Given the description of an element on the screen output the (x, y) to click on. 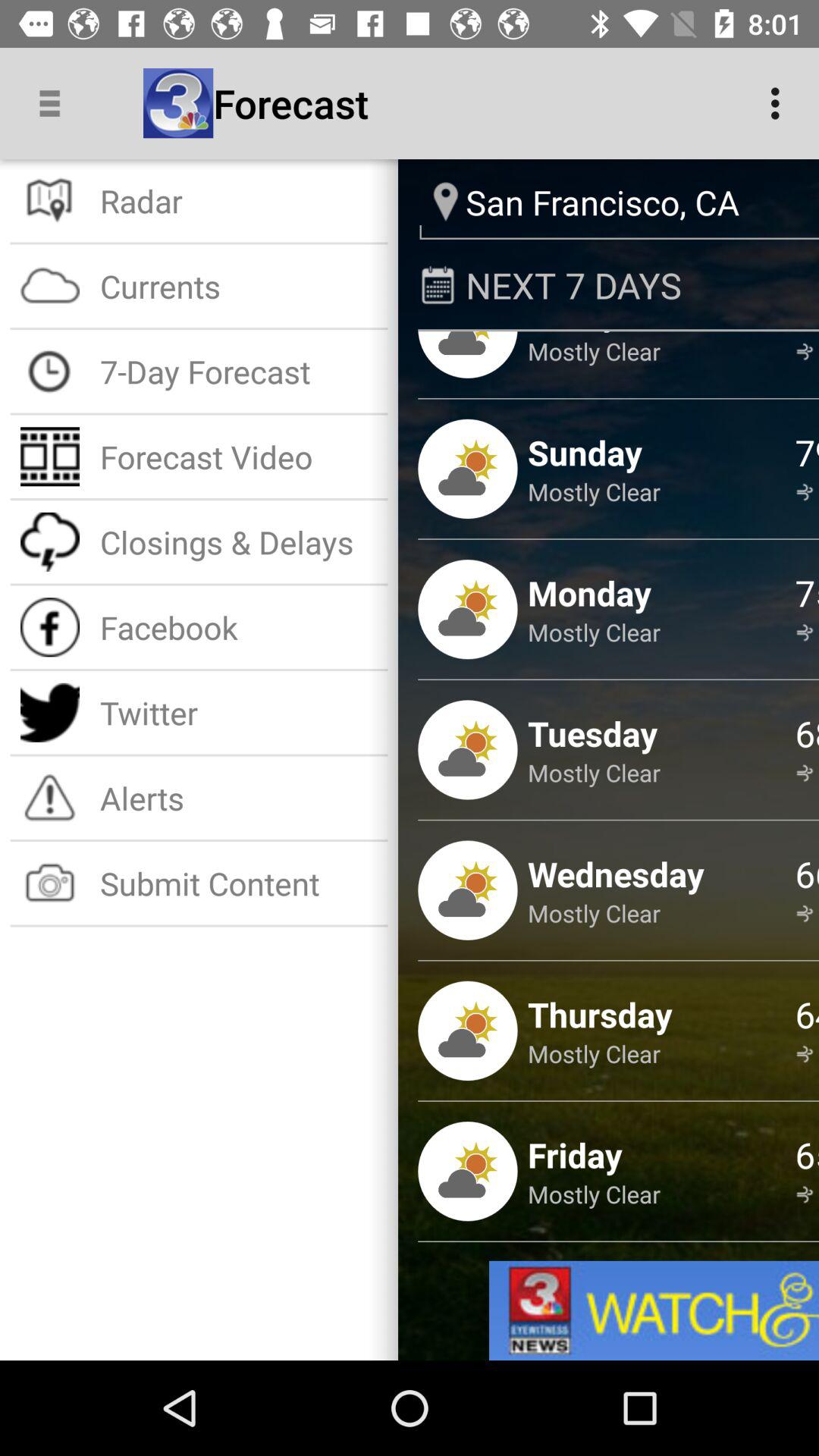
open thursday item (599, 1014)
